Given the description of an element on the screen output the (x, y) to click on. 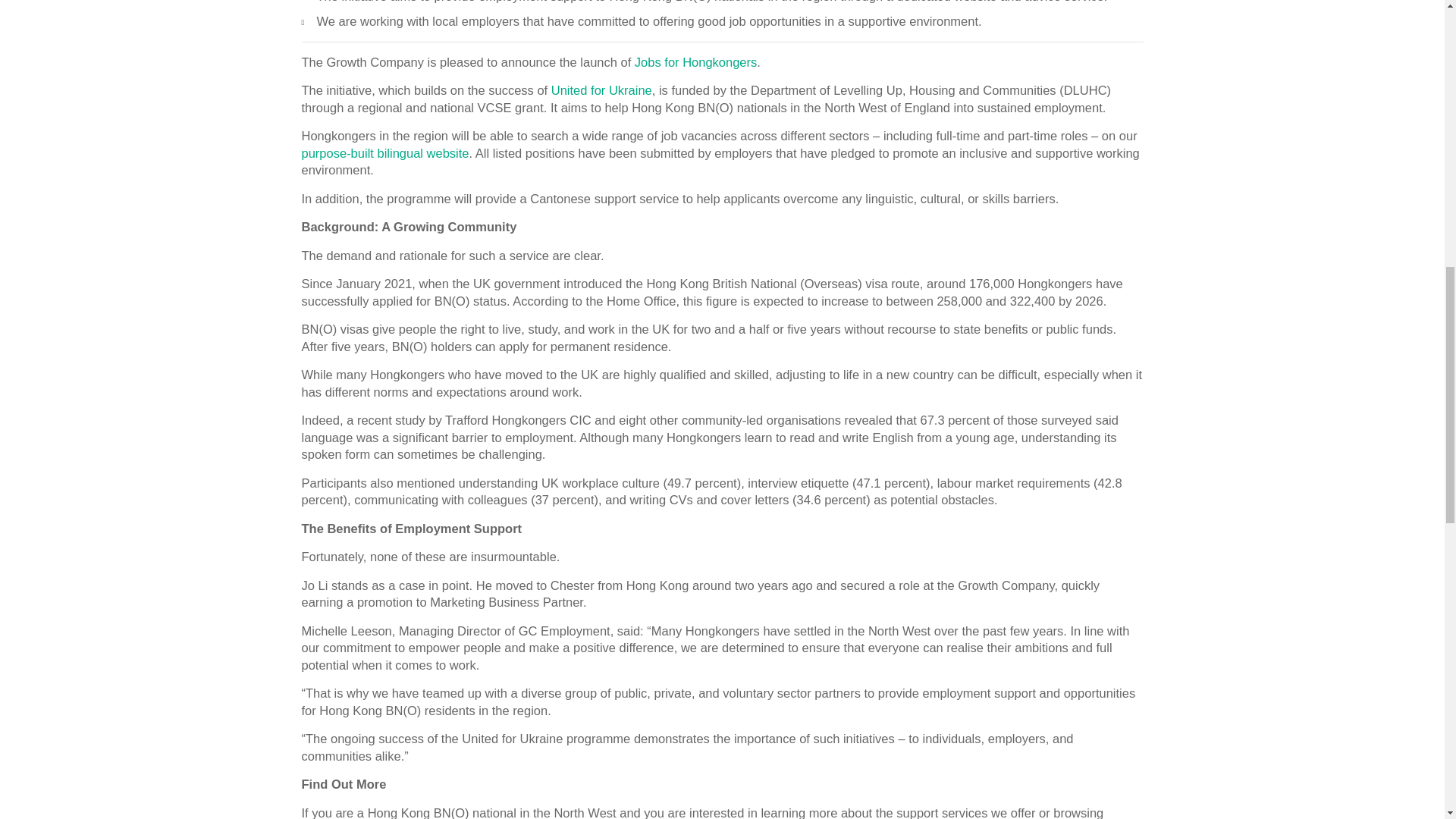
United for Ukraine (601, 90)
purpose-built bilingual website (384, 152)
Jobs for Hongkongers (695, 61)
